Given the description of an element on the screen output the (x, y) to click on. 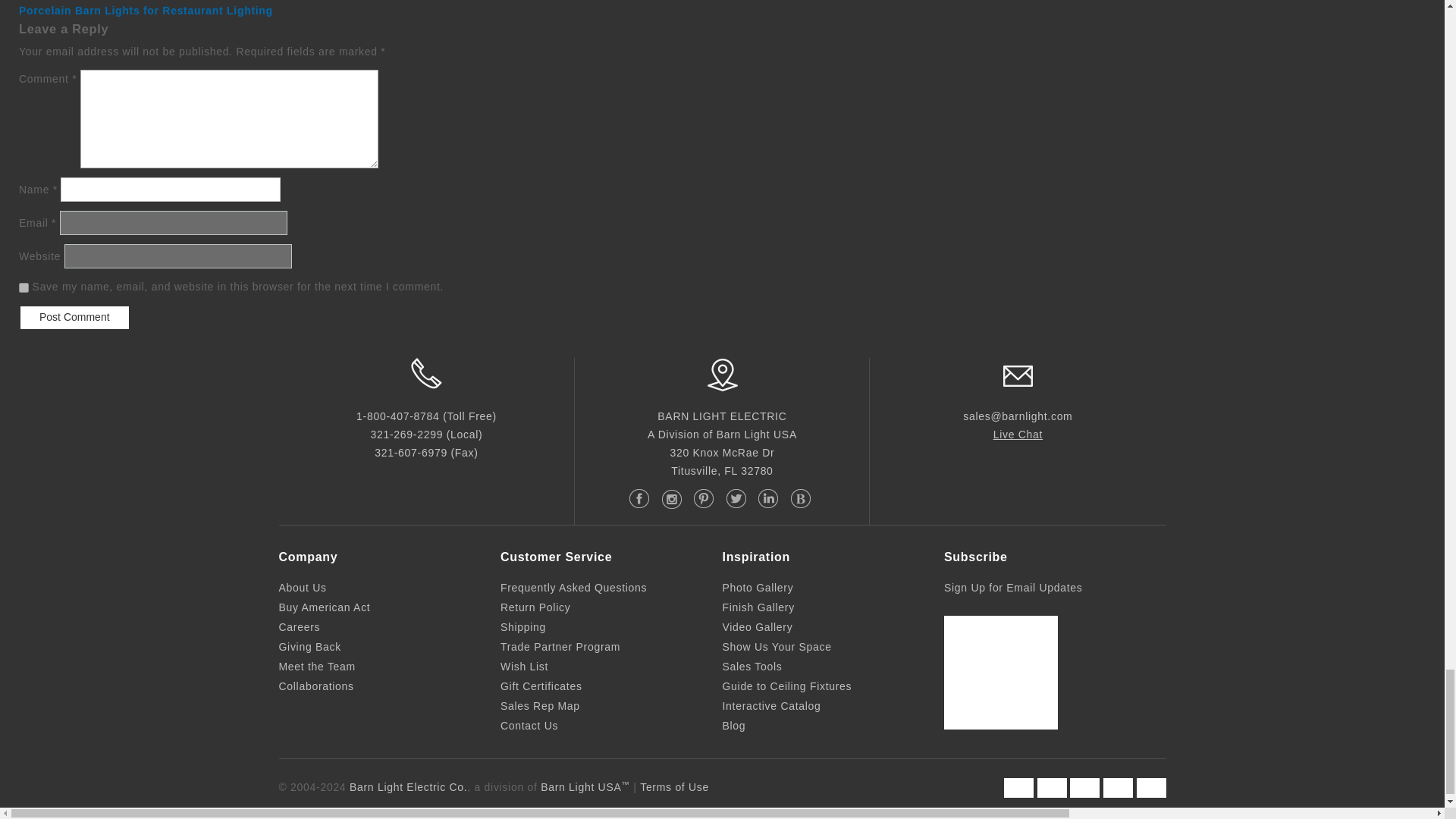
yes (23, 287)
Post Comment (74, 317)
